Given the description of an element on the screen output the (x, y) to click on. 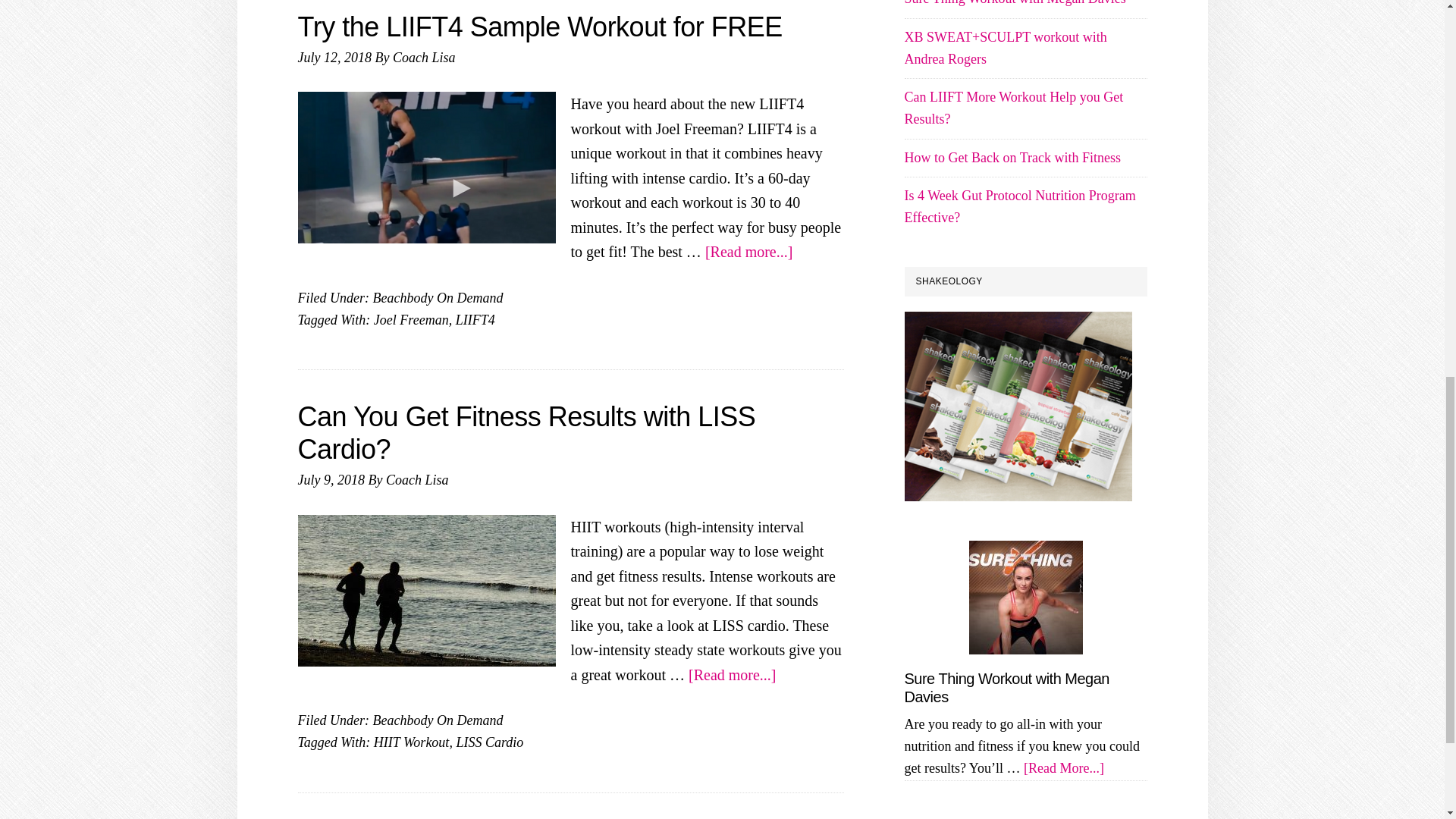
Beachbody On Demand (437, 297)
HIIT Workout (411, 742)
Beachbody On Demand (437, 720)
Try the LIIFT4 Sample Workout for FREE (539, 26)
Joel Freeman (411, 319)
Coach Lisa (424, 57)
Is 4 Week Gut Protocol Nutrition Program Effective? (1019, 206)
Coach Lisa (416, 479)
LIIFT4 (475, 319)
LISS Cardio (488, 742)
Can LIIFT More Workout Help you Get Results? (1013, 107)
Can You Get Fitness Results with LISS Cardio? (526, 433)
Sure Thing Workout with Megan Davies (1014, 2)
How to Get Back on Track with Fitness (1012, 157)
